Given the description of an element on the screen output the (x, y) to click on. 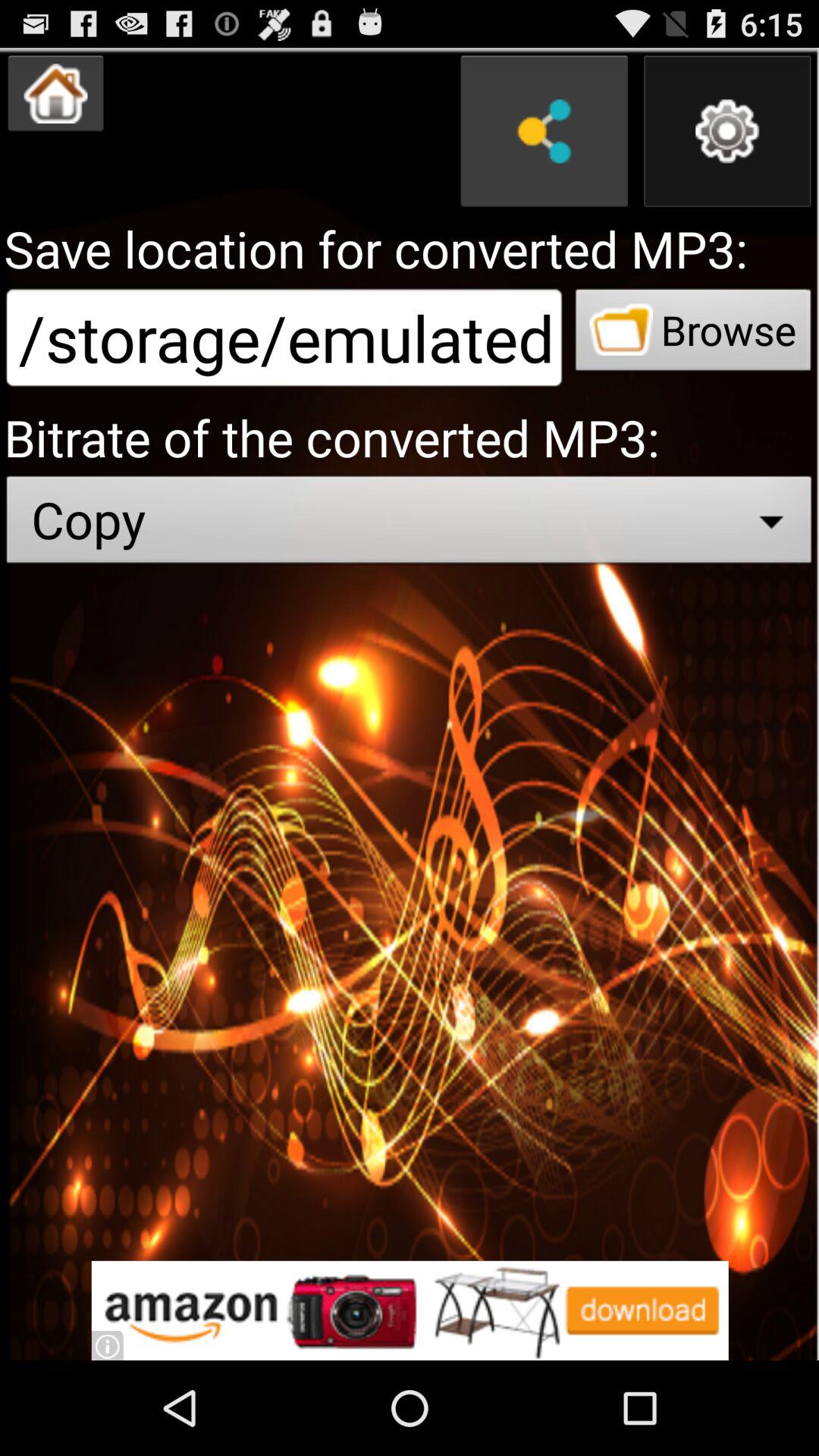
go to home (55, 93)
